Given the description of an element on the screen output the (x, y) to click on. 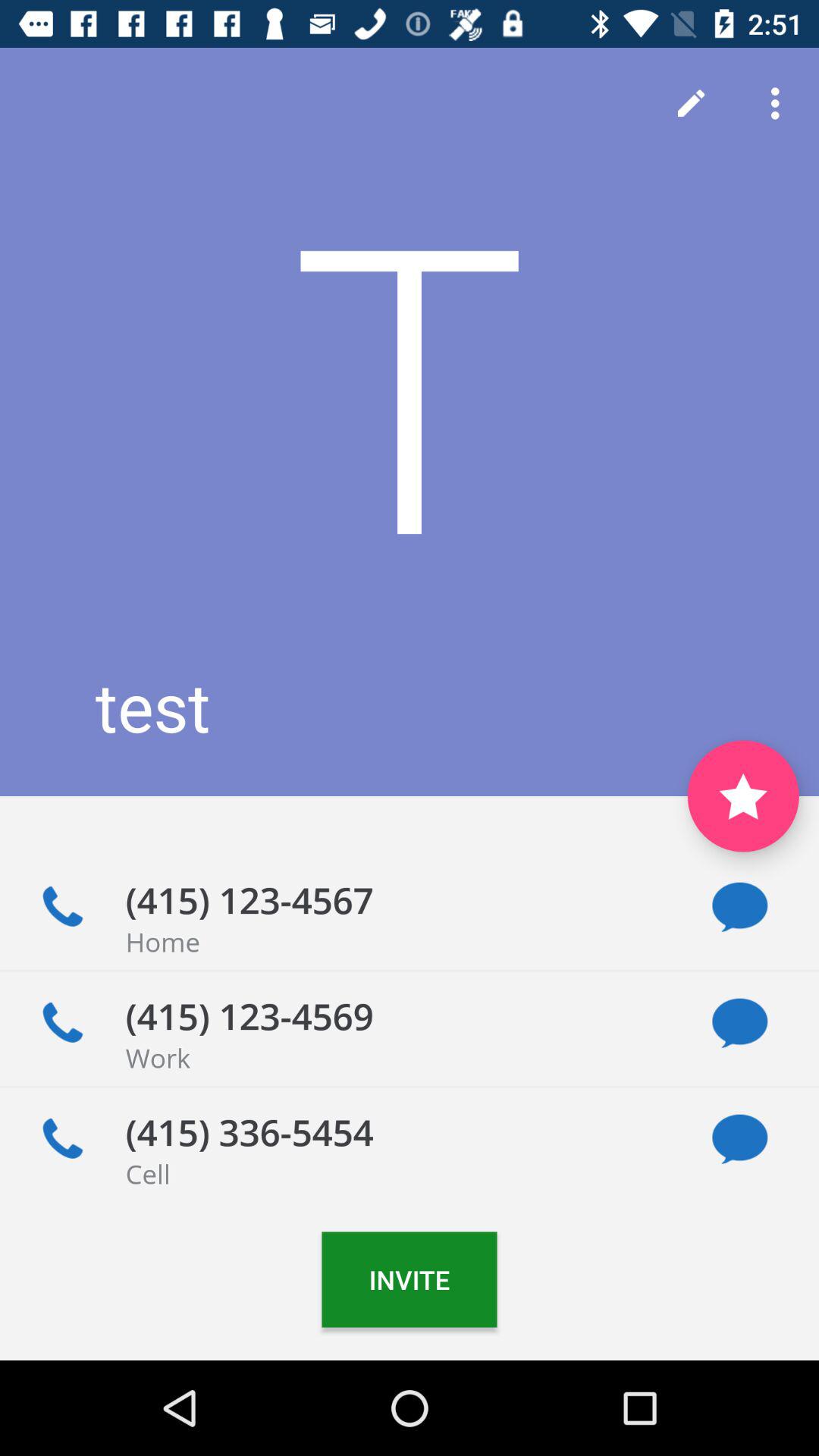
call home number (62, 907)
